Given the description of an element on the screen output the (x, y) to click on. 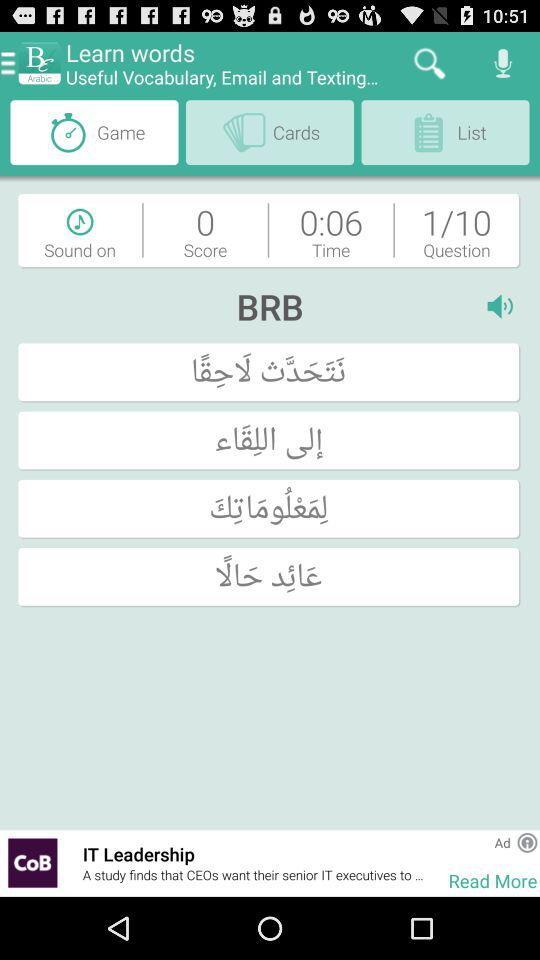
select the i item (504, 305)
